Given the description of an element on the screen output the (x, y) to click on. 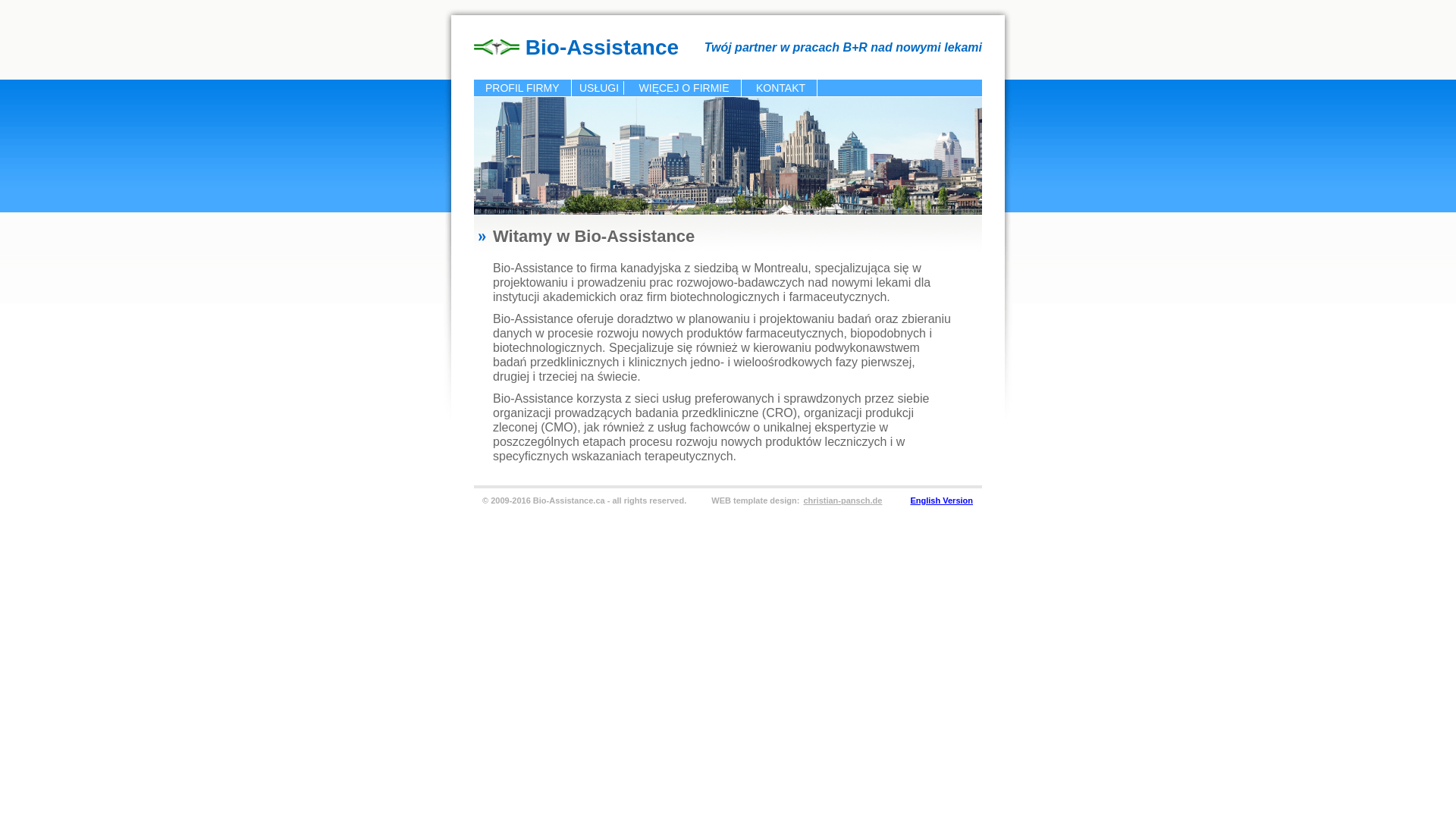
christian-pansch.de Element type: text (842, 500)
KONTAKT Element type: text (780, 87)
English Version Element type: text (941, 500)
PROFIL FIRMY Element type: text (522, 87)
